Given the description of an element on the screen output the (x, y) to click on. 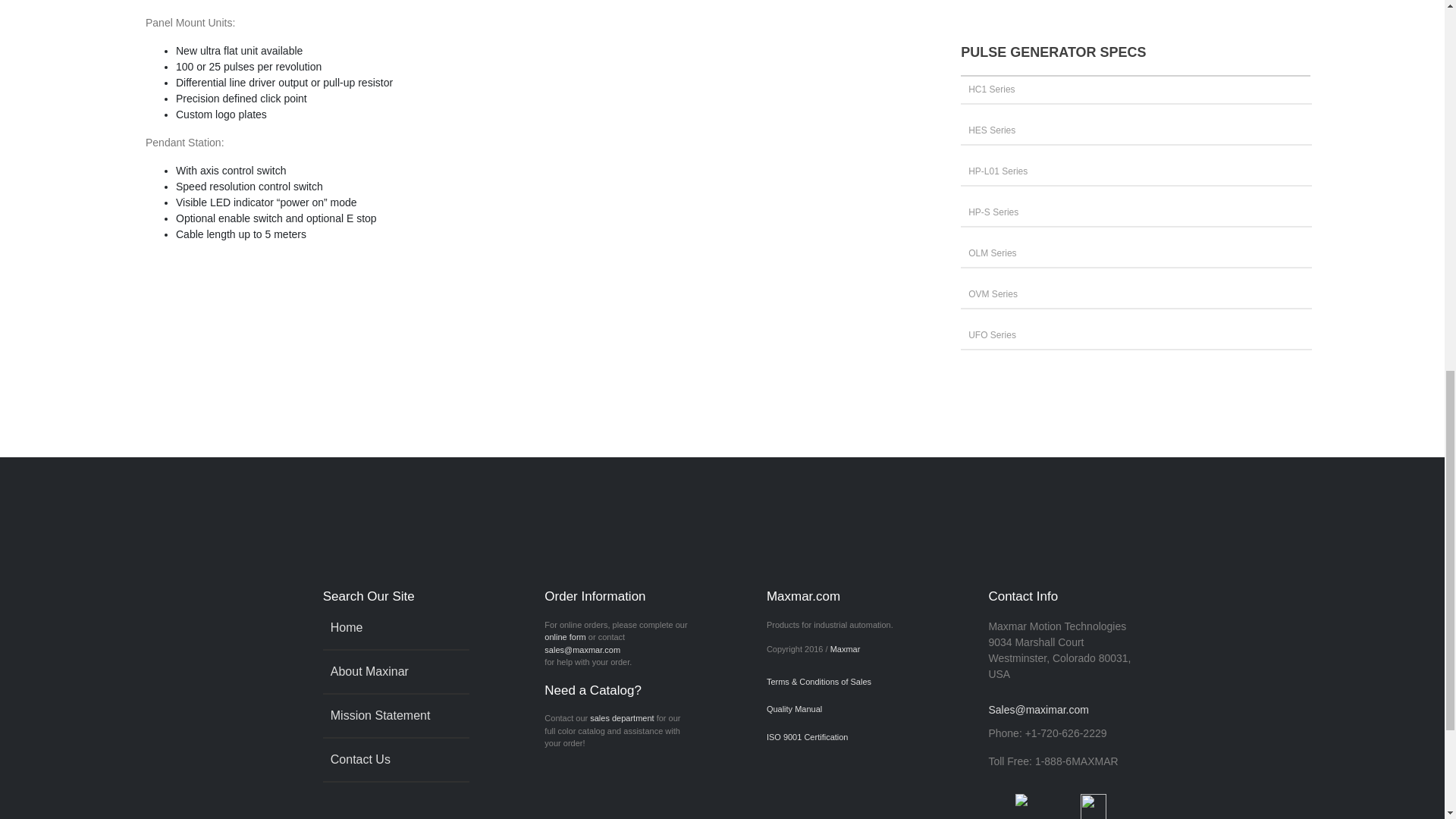
online form (564, 636)
sales department (621, 717)
Contact Us (395, 760)
Maxmar (844, 648)
ISO 9001 Certification (830, 737)
Quality Manual (830, 709)
